Given the description of an element on the screen output the (x, y) to click on. 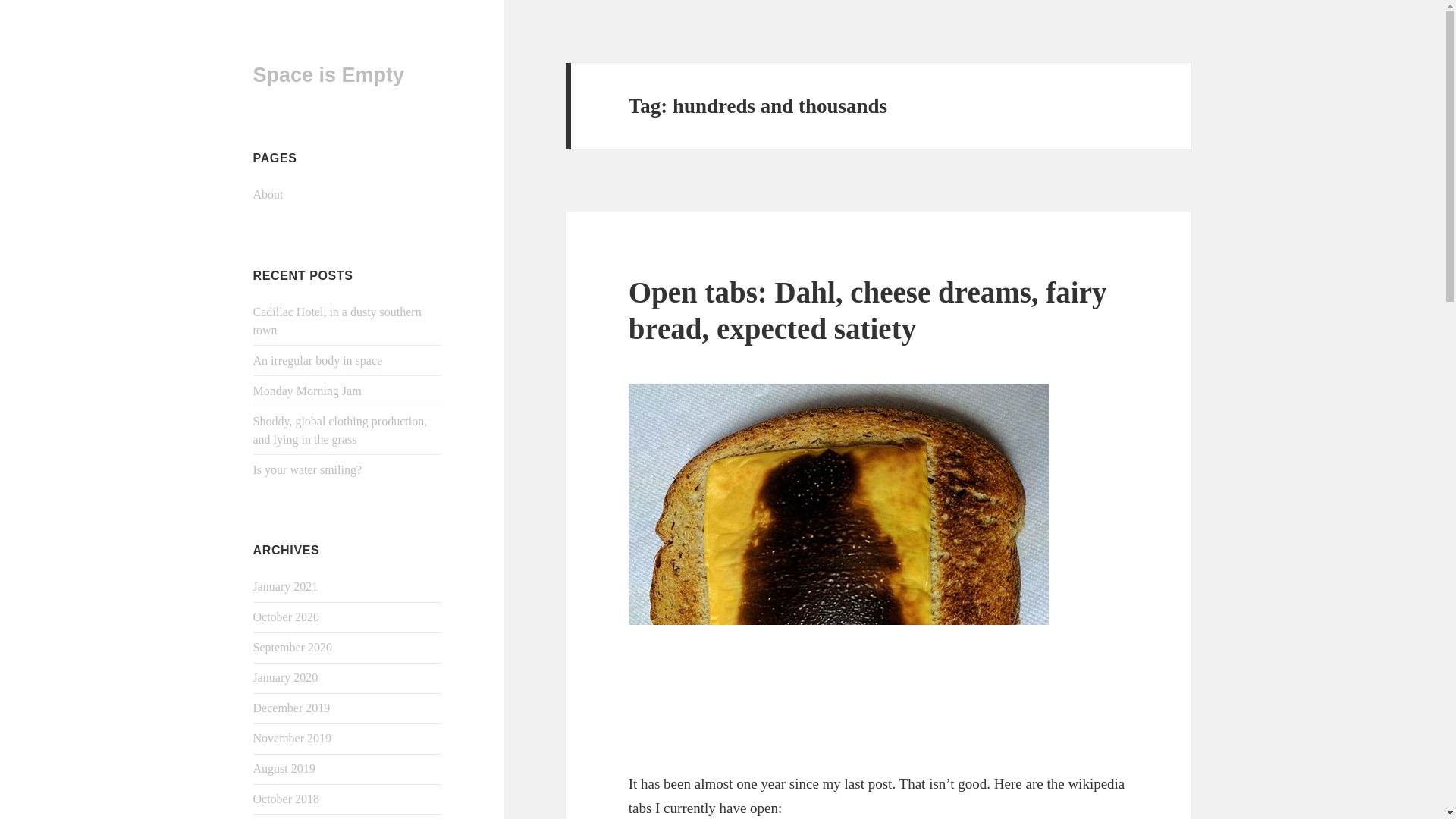
Space is Empty (328, 74)
January 2020 (285, 676)
Shoddy, global clothing production, and lying in the grass (340, 429)
October 2018 (286, 798)
About (268, 194)
December 2019 (291, 707)
August 2019 (284, 768)
November 2019 (292, 738)
An irregular body in space (317, 359)
September 2020 (292, 646)
